Given the description of an element on the screen output the (x, y) to click on. 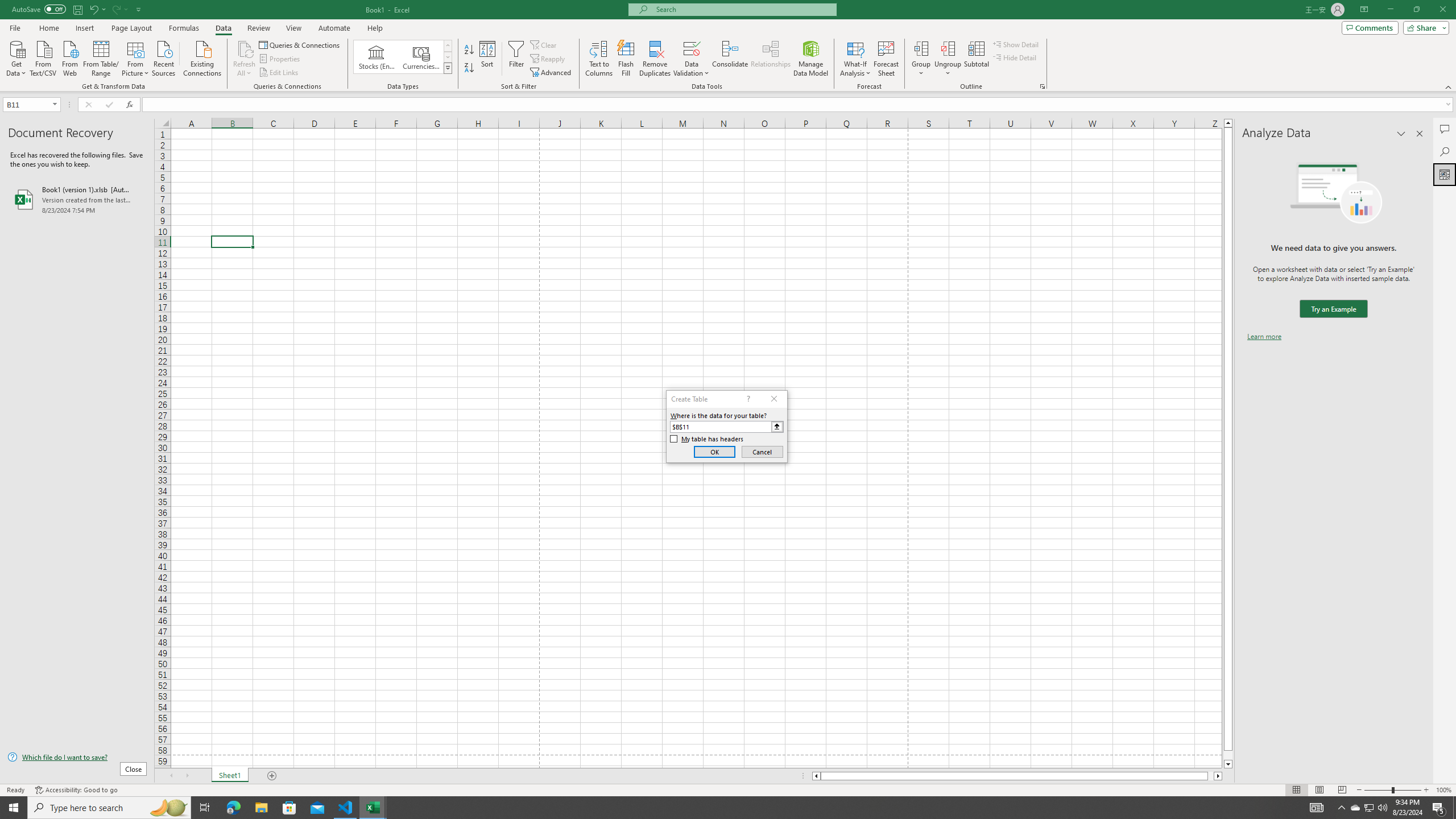
Page down (1228, 755)
Sort Z to A (469, 67)
Scroll Left (171, 775)
